Given the description of an element on the screen output the (x, y) to click on. 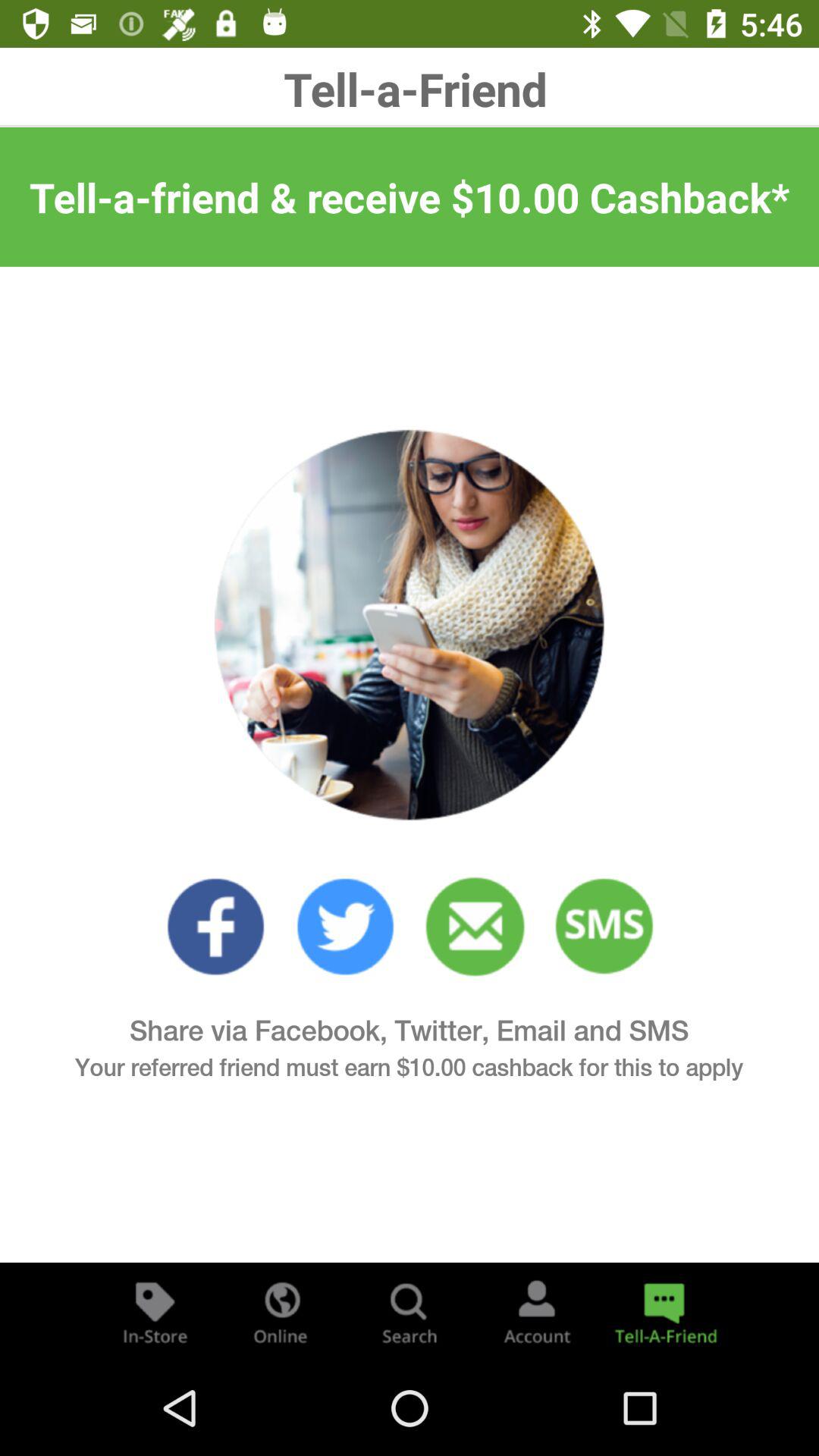
go to twitter option (345, 926)
